Given the description of an element on the screen output the (x, y) to click on. 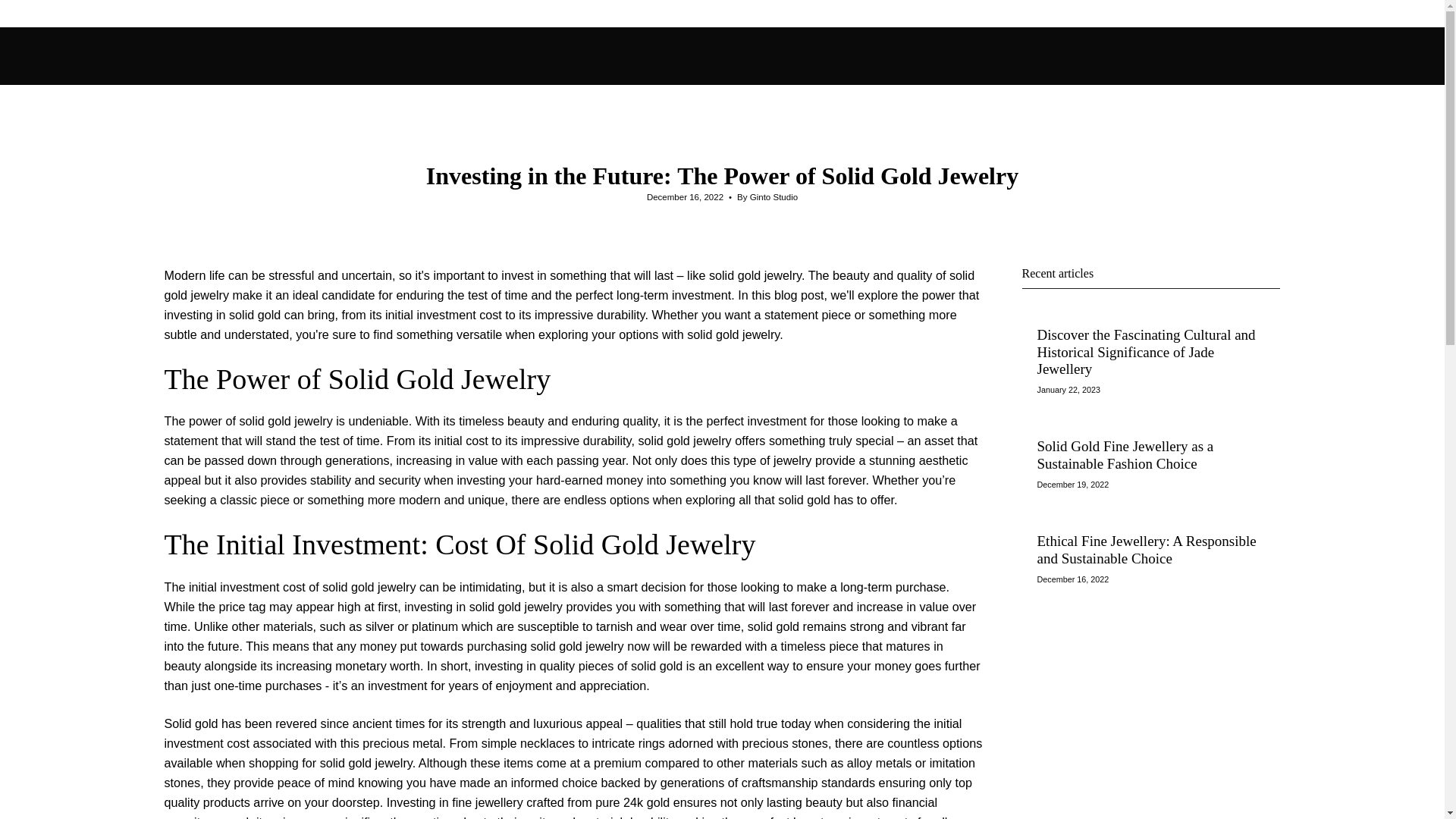
Solid Gold Fine Jewellery as a Sustainable Fashion Choice (1125, 454)
Ethical Fine Jewellery: A Responsible and Sustainable Choice (1146, 549)
